Given the description of an element on the screen output the (x, y) to click on. 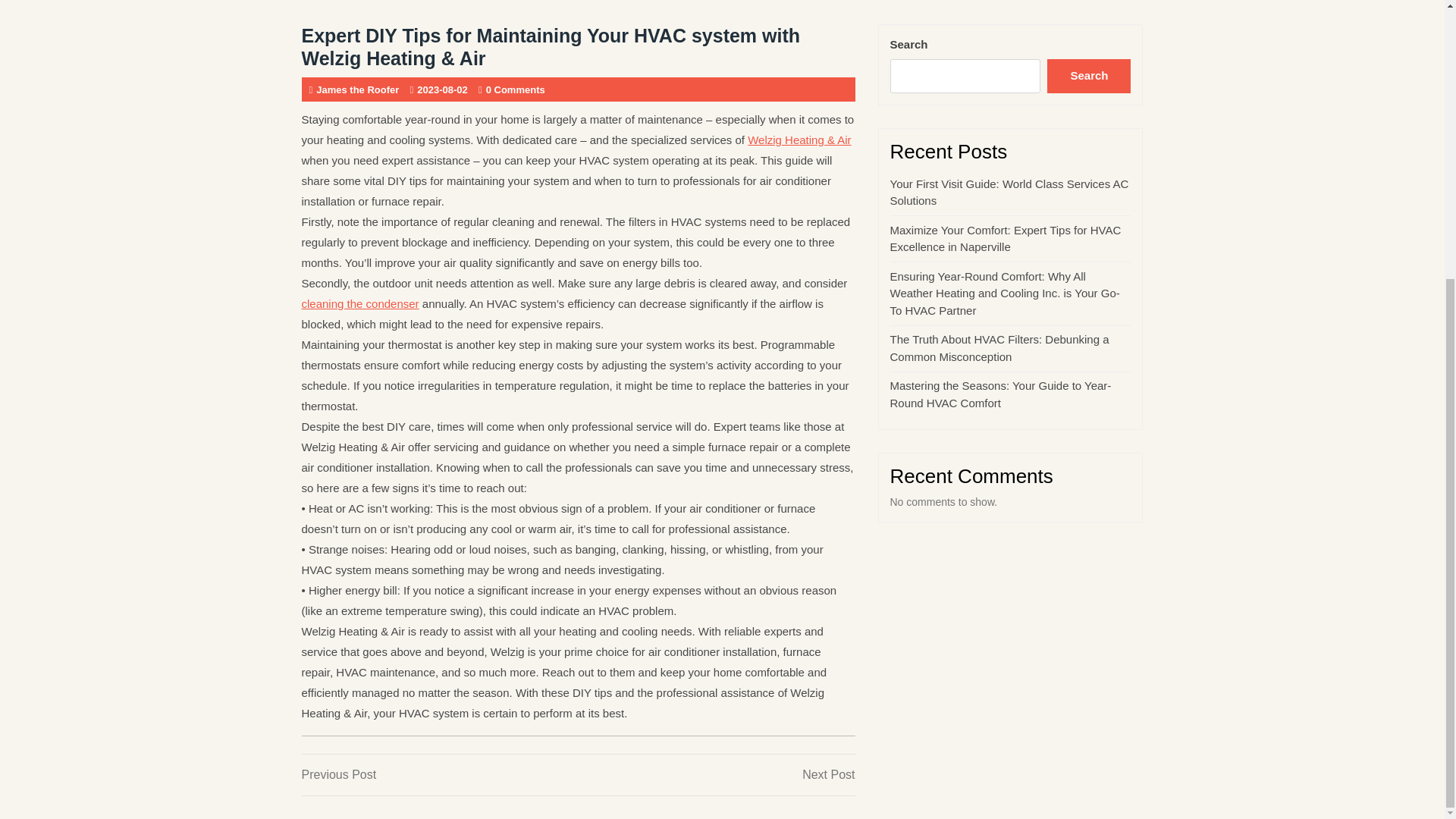
Search (1088, 76)
Mastering the Seasons: Your Guide to Year-Round HVAC Comfort (439, 774)
cleaning the condenser (1000, 394)
Your First Visit Guide: World Class Services AC Solutions (716, 774)
